Given the description of an element on the screen output the (x, y) to click on. 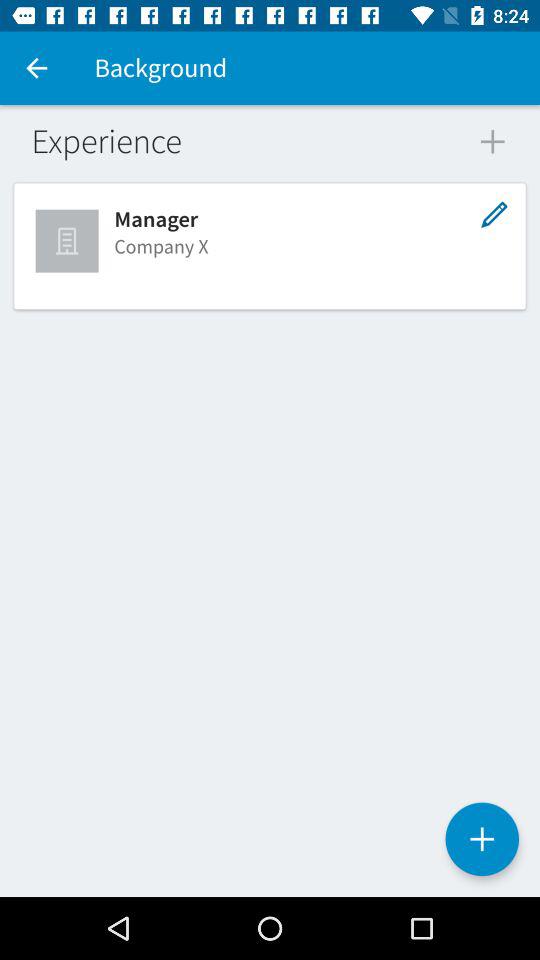
launch item at the bottom right corner (482, 839)
